Given the description of an element on the screen output the (x, y) to click on. 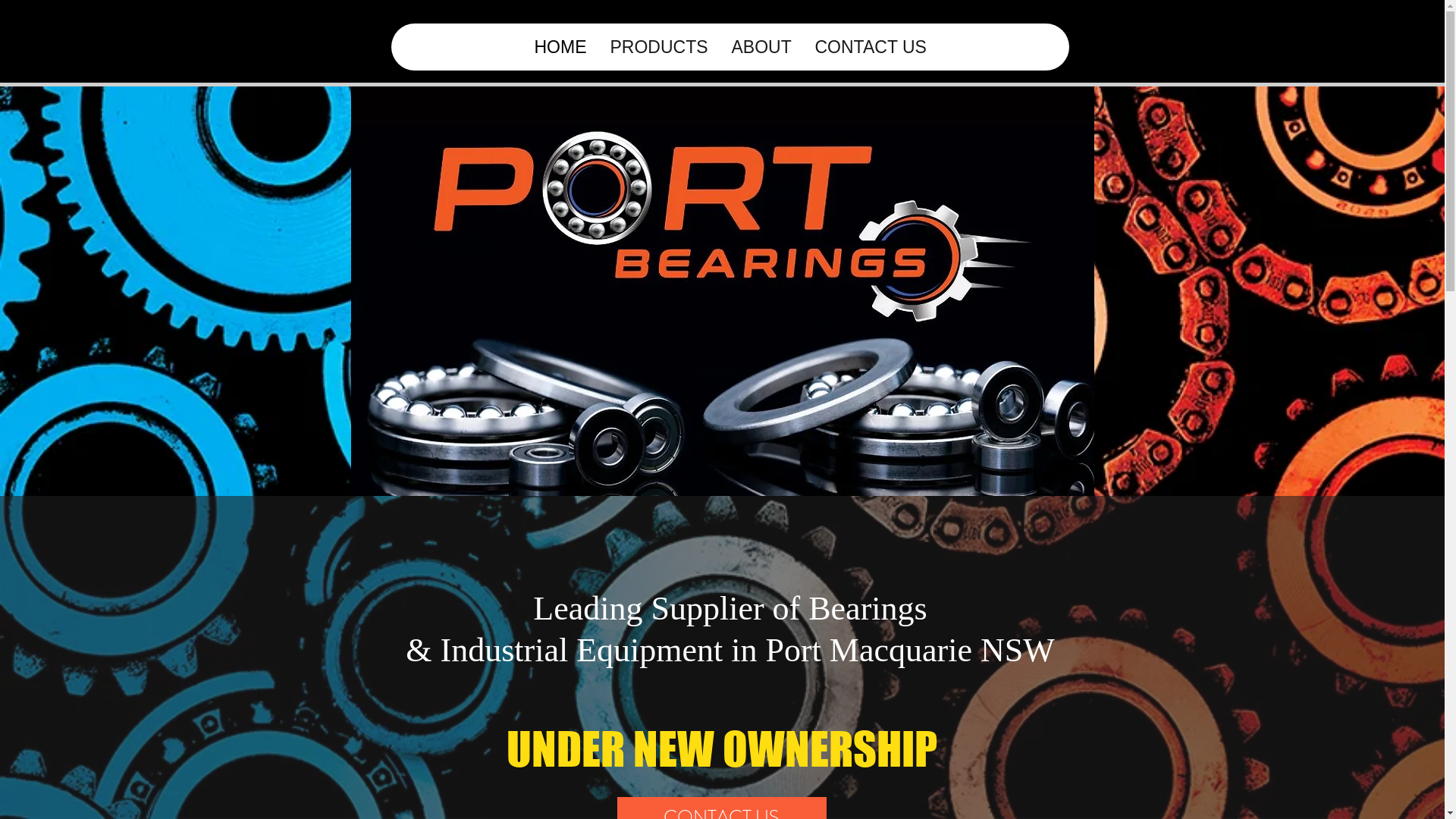
ABOUT Element type: text (760, 46)
HOME Element type: text (559, 46)
Professional business card.jpg Element type: hover (721, 276)
PRODUCTS Element type: text (657, 46)
CONTACT US Element type: text (869, 46)
